Given the description of an element on the screen output the (x, y) to click on. 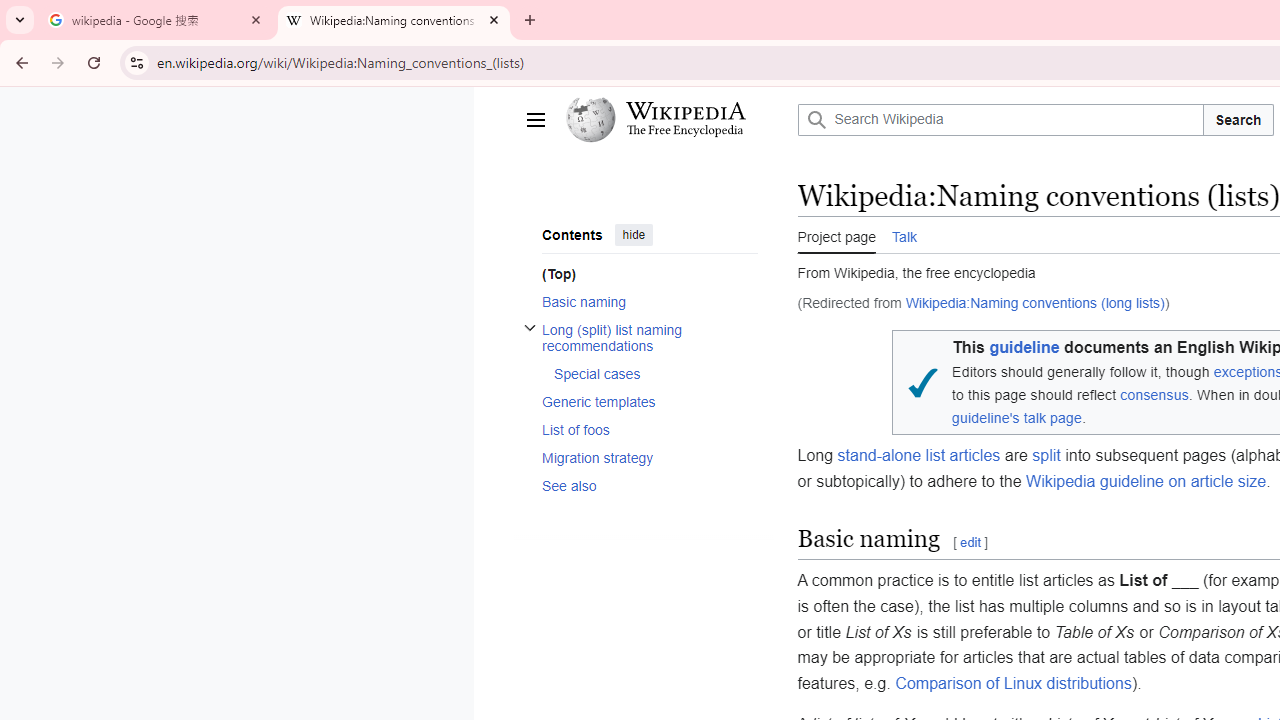
The Free Encyclopedia (685, 131)
Generic templates (649, 401)
List of foos (649, 429)
guideline (1024, 348)
hide (633, 234)
See also (649, 484)
Wikipedia guideline on article size (1146, 481)
Wikipedia:Naming conventions (long lists) (1034, 303)
Special cases (654, 373)
